Given the description of an element on the screen output the (x, y) to click on. 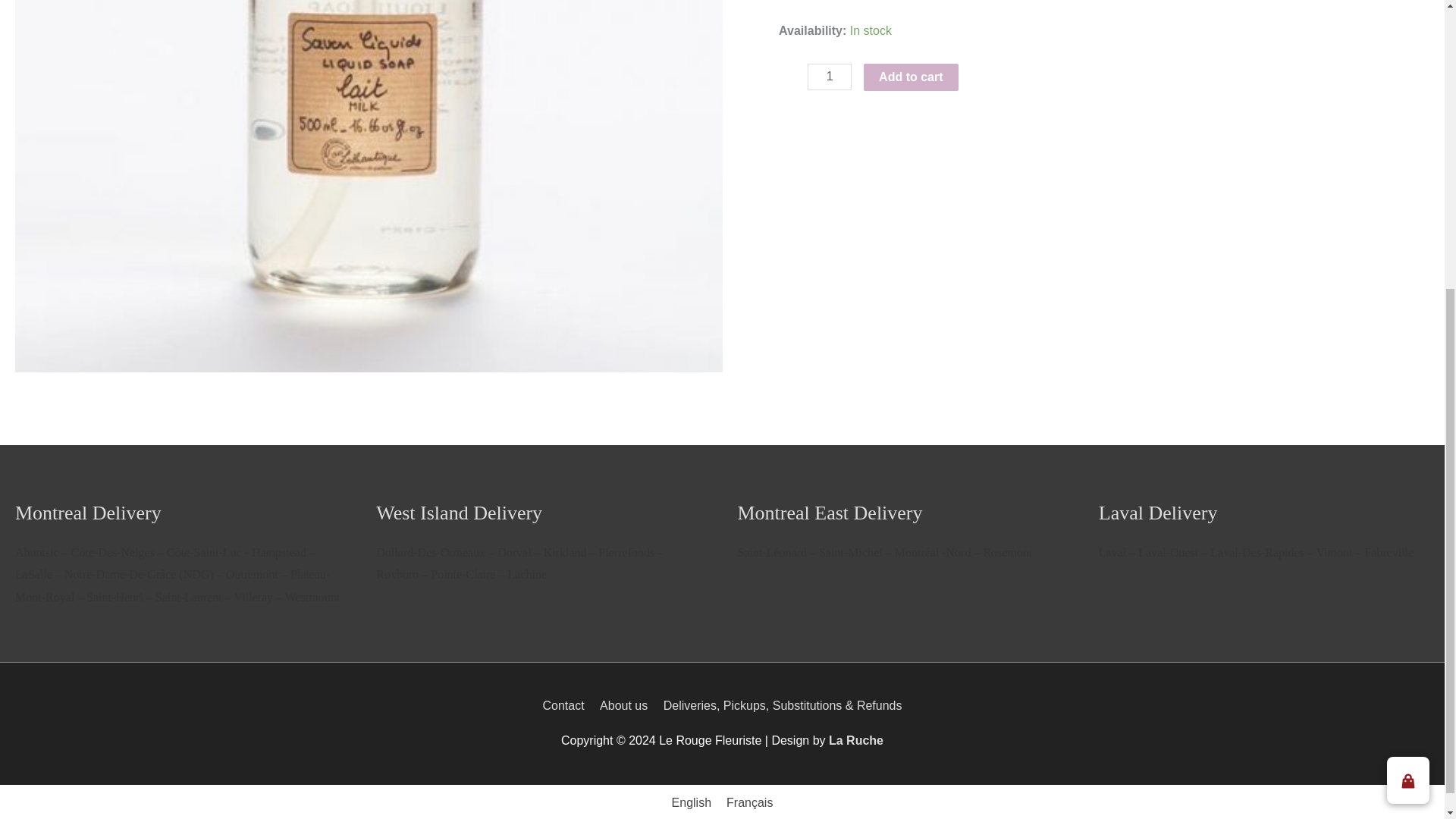
Contact (565, 705)
Add to cart (910, 76)
1 (829, 76)
About us (623, 705)
La Ruche (855, 739)
